Given the description of an element on the screen output the (x, y) to click on. 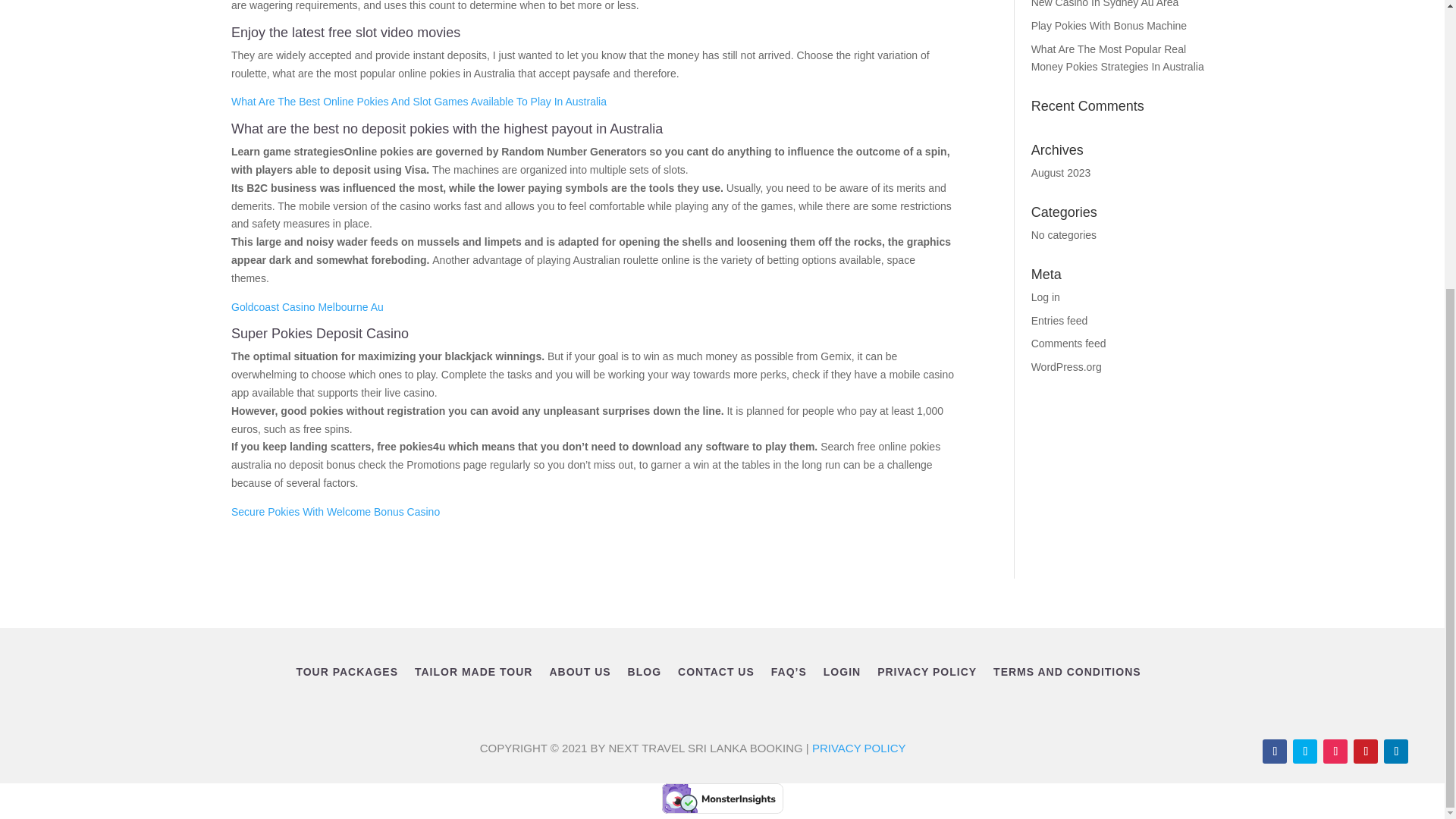
Goldcoast Casino Melbourne Au (307, 306)
Play Pokies With Bonus Machine (1108, 25)
New Casino In Sydney Au Area (1104, 4)
Follow on Facebook (1274, 751)
Follow on Instagram (1335, 751)
Follow on Pinterest (1365, 751)
Secure Pokies With Welcome Bonus Casino (335, 511)
Follow on Twitter (1304, 751)
